Given the description of an element on the screen output the (x, y) to click on. 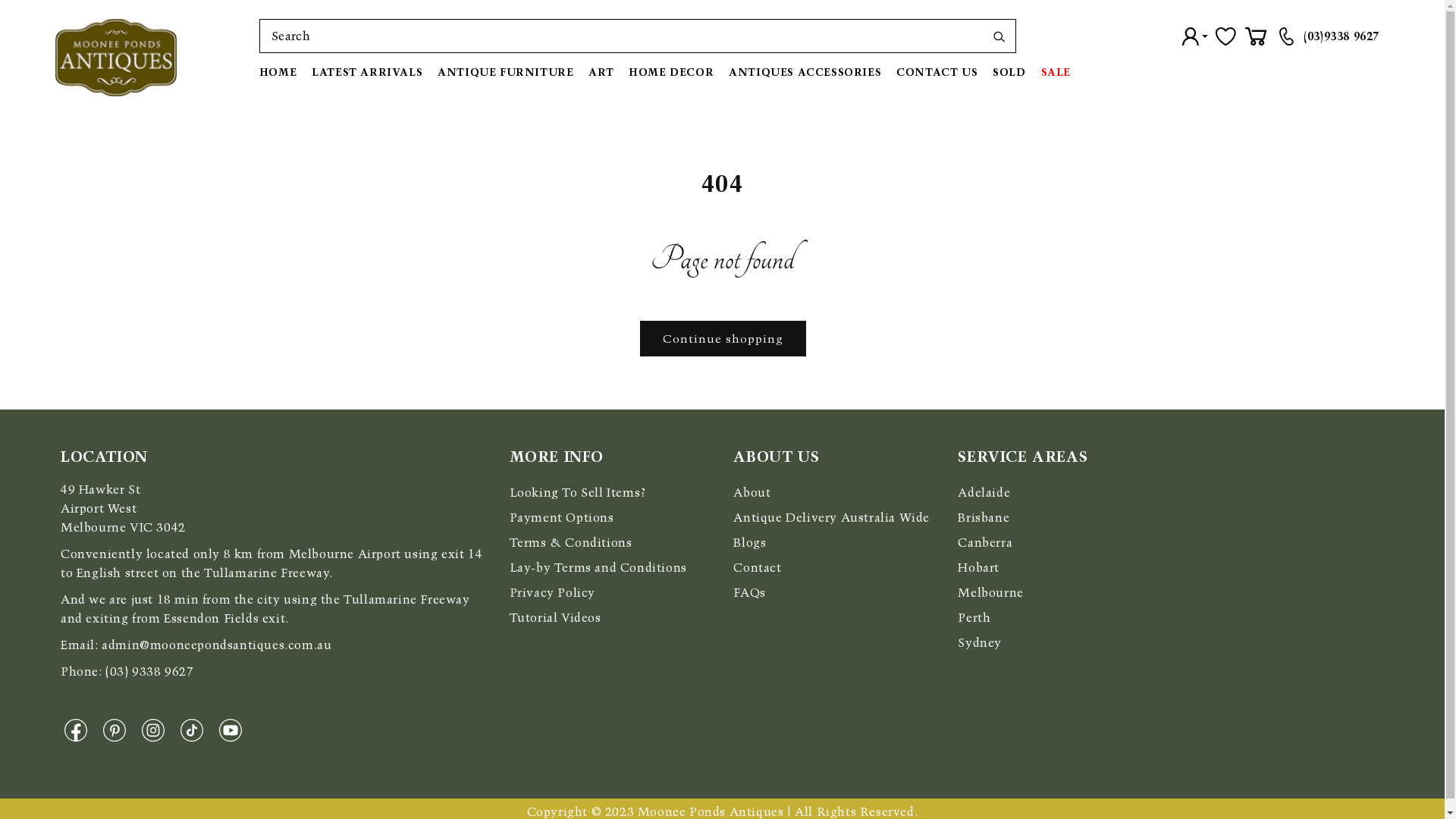
SOLD Element type: text (1008, 72)
Melbourne Element type: text (989, 592)
Privacy Policy Element type: text (552, 592)
Log in Element type: text (1195, 35)
SALE Element type: text (1055, 72)
Facebook Element type: text (79, 729)
LATEST ARRIVALS Element type: text (366, 72)
Lay-by Terms and Conditions Element type: text (598, 567)
(03)9338 9627 Element type: text (1341, 35)
Contact Element type: text (757, 567)
Terms & Conditions Element type: text (570, 542)
Brisbane Element type: text (983, 517)
Hobart Element type: text (978, 567)
Looking To Sell Items? Element type: text (577, 492)
Tutorial Videos Element type: text (555, 617)
FAQs Element type: text (749, 592)
TikTok Element type: text (195, 729)
Canberra Element type: text (984, 542)
Payment Options Element type: text (561, 517)
admin@mooneepondsantiques.com.au Element type: text (216, 644)
HOME Element type: text (281, 72)
Sydney Element type: text (979, 642)
Blogs Element type: text (749, 542)
HOME DECOR Element type: text (671, 72)
CONTACT US Element type: text (936, 72)
ANTIQUES ACCESSORIES Element type: text (804, 72)
ANTIQUE FURNITURE Element type: text (504, 72)
Cart Element type: text (1255, 35)
ART Element type: text (600, 72)
Pinterest Element type: text (118, 729)
About Element type: text (751, 492)
49 Hawker St
Airport West
Melbourne VIC 3042 Element type: text (122, 508)
Perth Element type: text (973, 617)
YouTube Element type: text (234, 729)
Continue shopping Element type: text (722, 338)
Instagram Element type: text (156, 729)
Antique Delivery Australia Wide Element type: text (831, 517)
Adelaide Element type: text (983, 492)
(03) 9338 9627 Element type: text (149, 671)
